Given the description of an element on the screen output the (x, y) to click on. 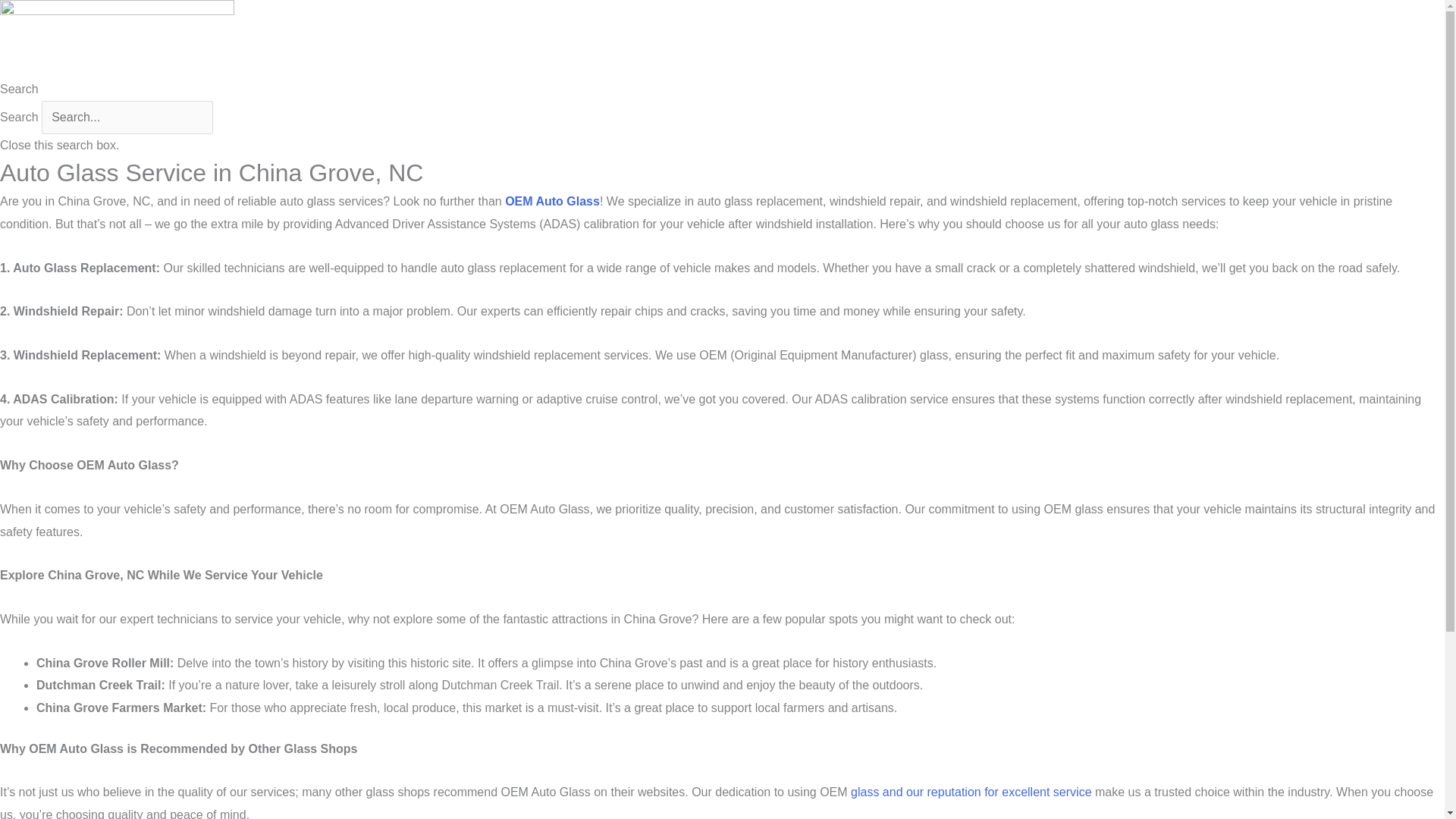
Auto Glass Service in China Grove, NC (117, 38)
glass and our reputation for excellent service (971, 791)
OEM Auto Glass (552, 201)
